Given the description of an element on the screen output the (x, y) to click on. 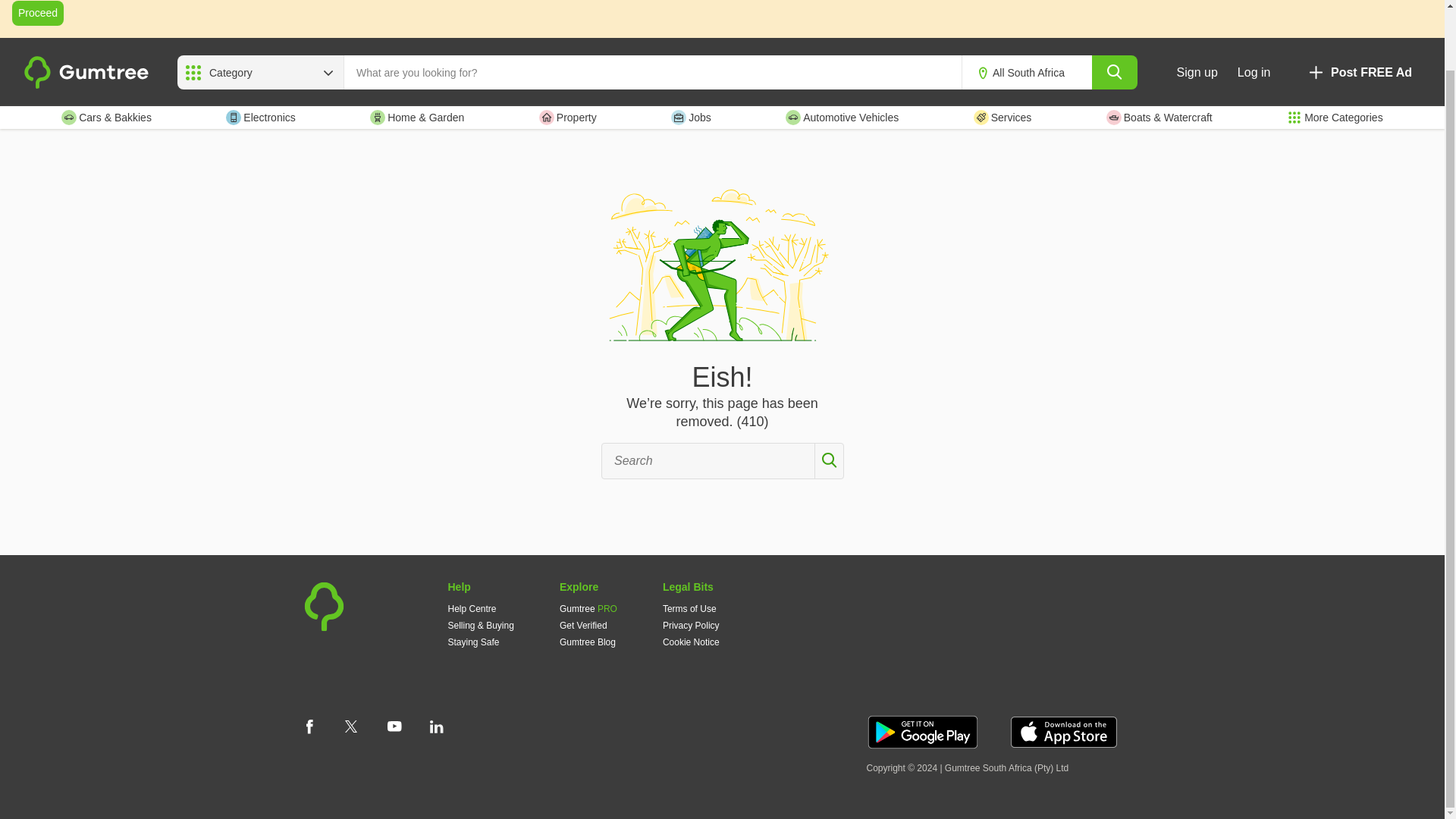
Get Verified (583, 624)
Post FREE Ad (1359, 72)
All South Africa (1038, 72)
Electronics (260, 117)
Gumtree PRO (588, 608)
Proceed (37, 12)
Services (1003, 117)
Jobs (691, 117)
Gumtree Blog (587, 642)
Property (567, 117)
Automotive Vehicles (842, 117)
